Given the description of an element on the screen output the (x, y) to click on. 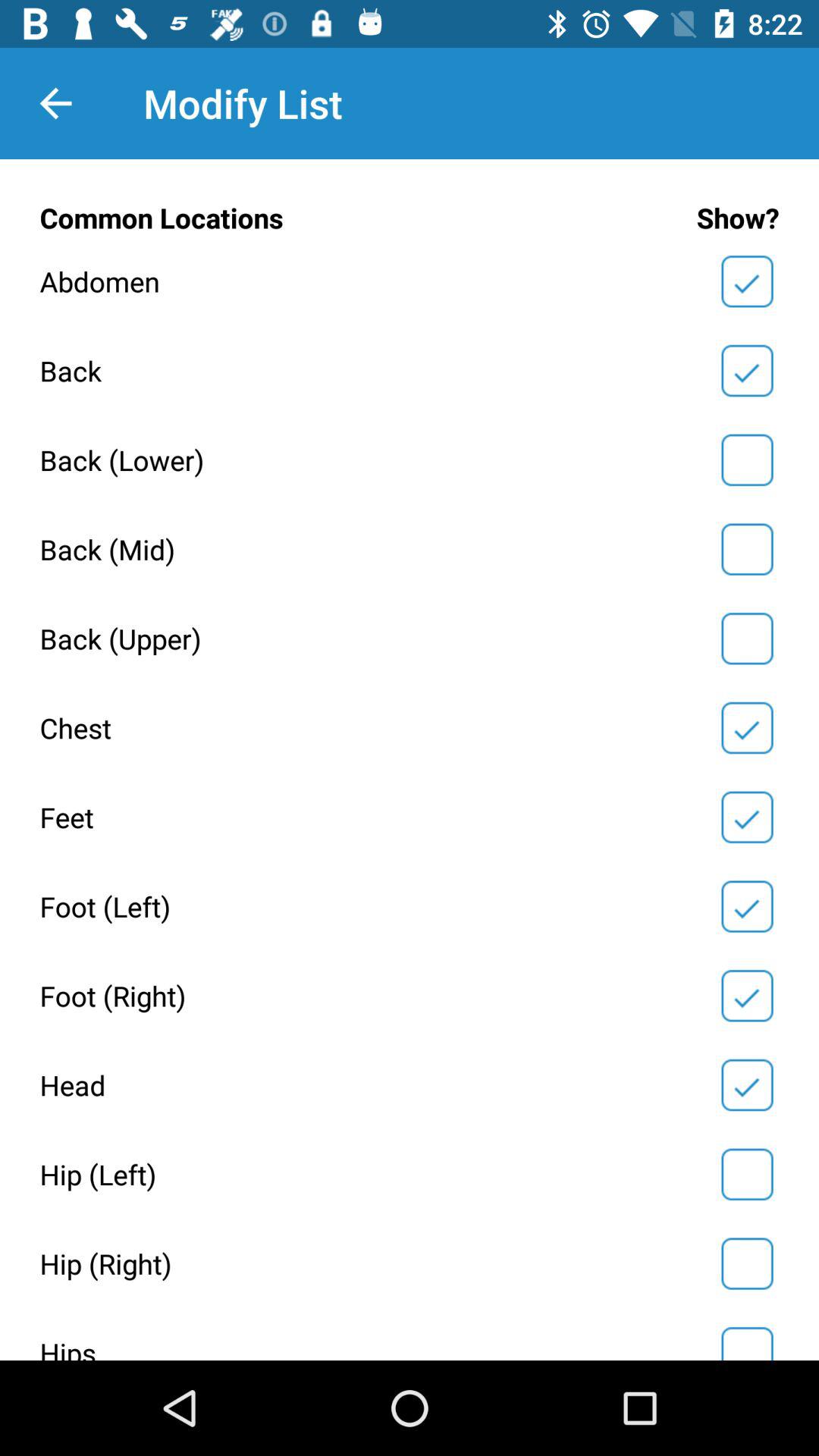
mark (747, 638)
